Given the description of an element on the screen output the (x, y) to click on. 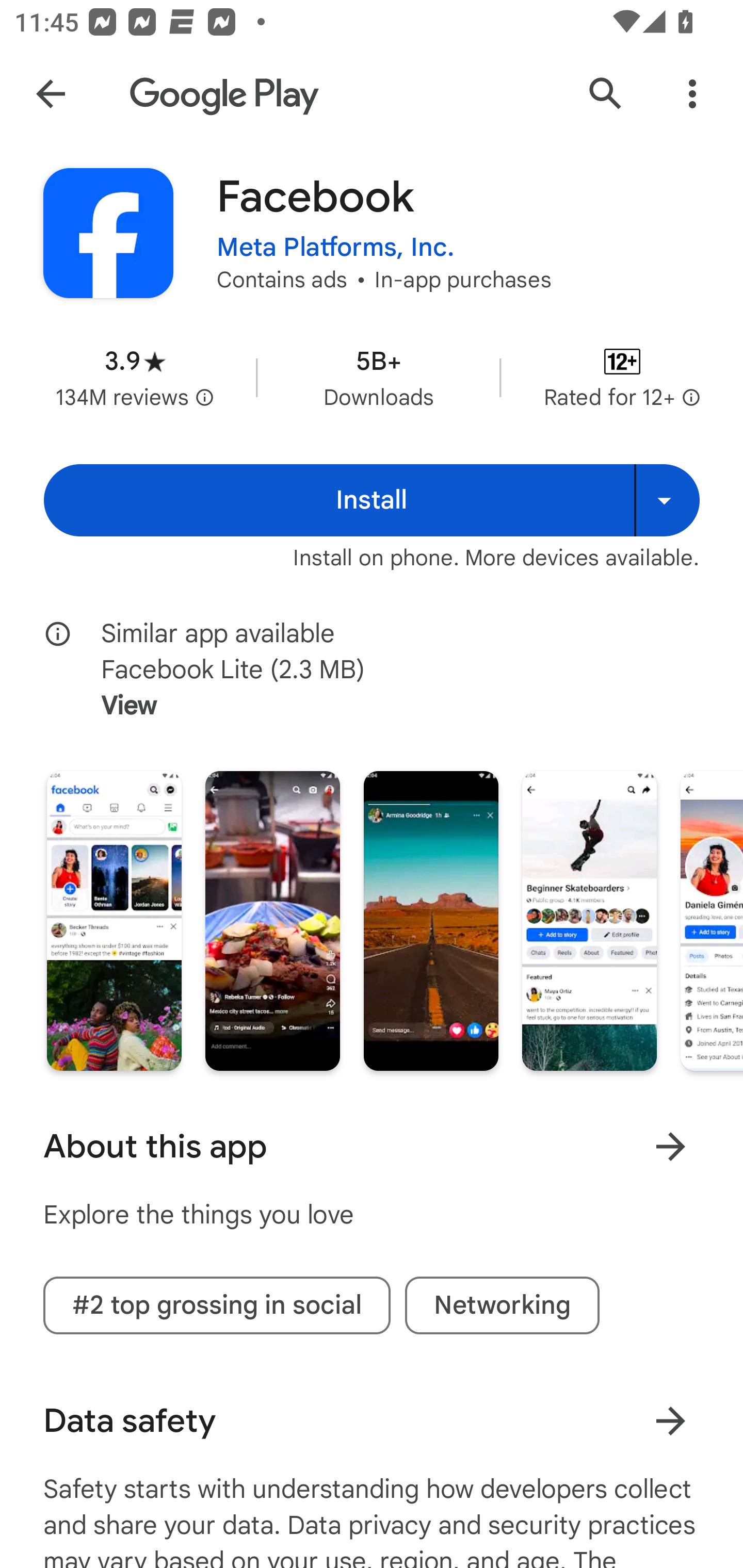
Navigate up (50, 93)
Search Google Play (605, 93)
More Options (692, 93)
Meta Platforms, Inc. (335, 247)
Average rating 3.9 stars in 134 million reviews (135, 377)
Content rating Rated for 12+ (622, 377)
Install Install Install on more devices (371, 500)
Install on more devices (667, 500)
Similar app available
Facebook Lite (2.3 MB)
View (385, 670)
Screenshot "1" of "5" (113, 920)
Screenshot "2" of "5" (272, 920)
Screenshot "3" of "5" (431, 920)
Screenshot "4" of "5" (589, 920)
About this app Learn more About this app (371, 1146)
Learn more About this app (670, 1146)
#2 top grossing in social tag (216, 1305)
Networking tag (501, 1305)
Data safety Learn more about data safety (371, 1420)
Learn more about data safety (670, 1421)
